Given the description of an element on the screen output the (x, y) to click on. 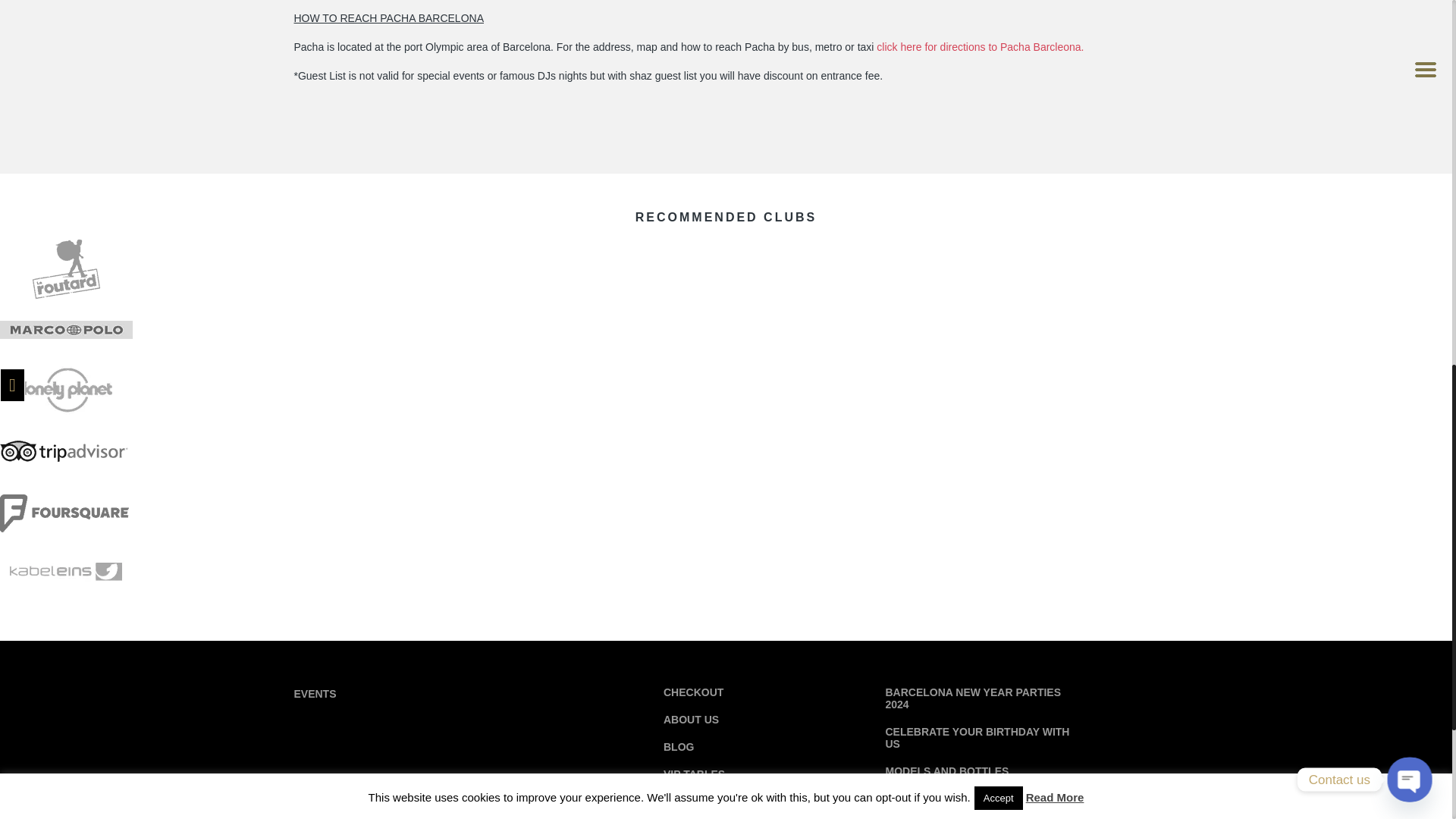
VIP TABLES (694, 774)
BLOG (678, 746)
ABOUT US (691, 719)
PRIVACY POLICY (707, 801)
click here for directions to Pacha Barcleona. (979, 46)
CHECKOUT (693, 692)
CELEBRATE YOUR BIRTHDAY WITH US (977, 737)
Shoko Barcelona (979, 46)
MODELS AND BOTTLES (947, 770)
PACKAGES (914, 798)
